Given the description of an element on the screen output the (x, y) to click on. 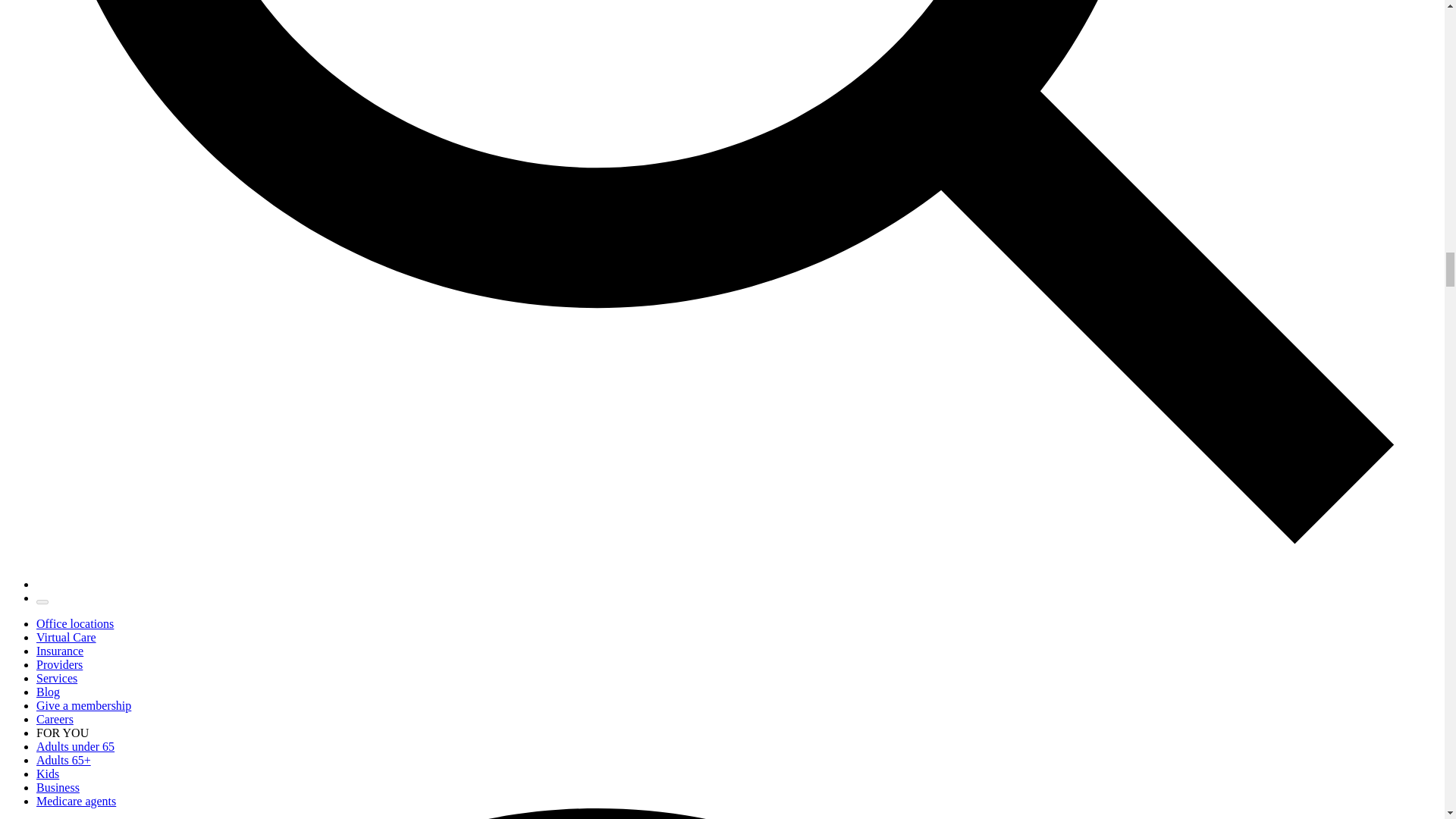
Insurance (59, 650)
Office locations (74, 623)
Medicare agents (76, 800)
Blog (47, 691)
Adults under 65 (75, 746)
Give a membership (83, 705)
Business (58, 787)
Services (56, 677)
Kids (47, 773)
Virtual Care (66, 636)
Careers (55, 718)
Providers (59, 664)
